Given the description of an element on the screen output the (x, y) to click on. 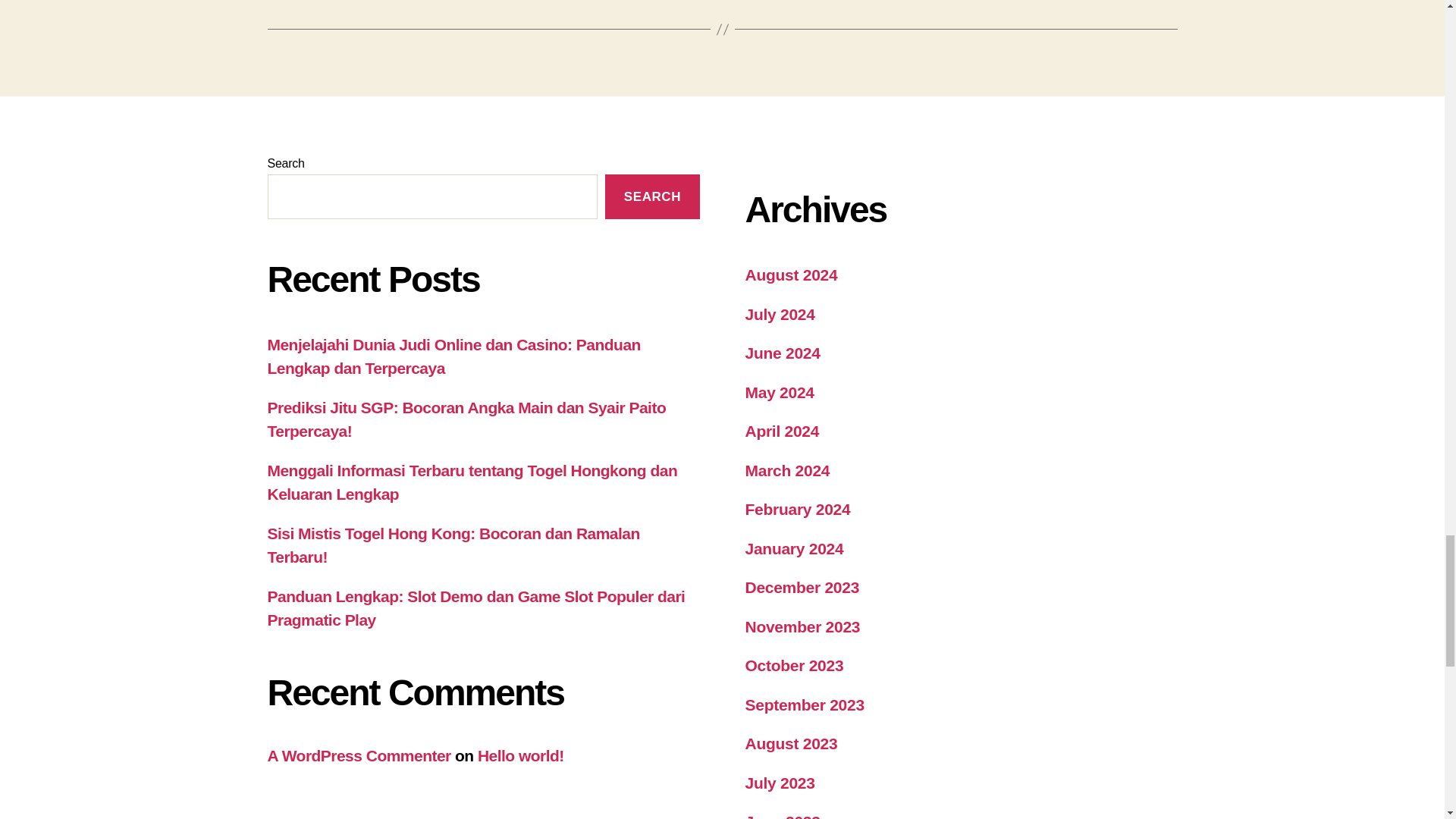
July 2024 (778, 313)
September 2023 (803, 704)
August 2023 (790, 743)
Hello world! (520, 755)
June 2023 (781, 816)
February 2024 (797, 508)
July 2023 (778, 782)
May 2024 (778, 392)
